Given the description of an element on the screen output the (x, y) to click on. 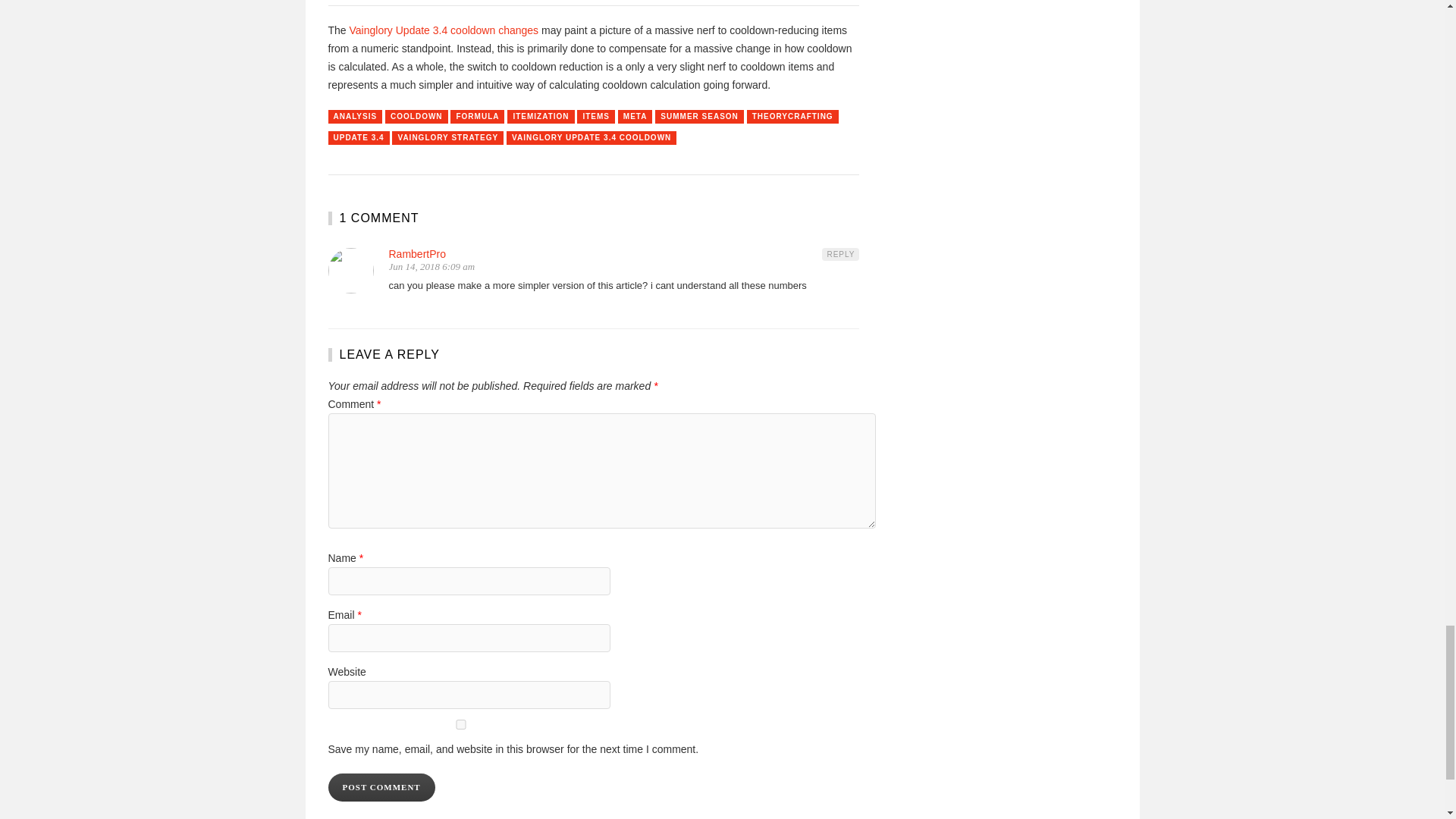
yes (459, 724)
UPDATE 3.4 (357, 137)
THEORYCRAFTING (792, 116)
SUMMER SEASON (698, 116)
Post Comment (380, 787)
META (634, 116)
VAINGLORY STRATEGY (447, 137)
COOLDOWN (416, 116)
ITEMIZATION (539, 116)
Vainglory Update 3.4 cooldown changes (443, 30)
ITEMS (595, 116)
FORMULA (476, 116)
ANALYSIS (354, 116)
